Given the description of an element on the screen output the (x, y) to click on. 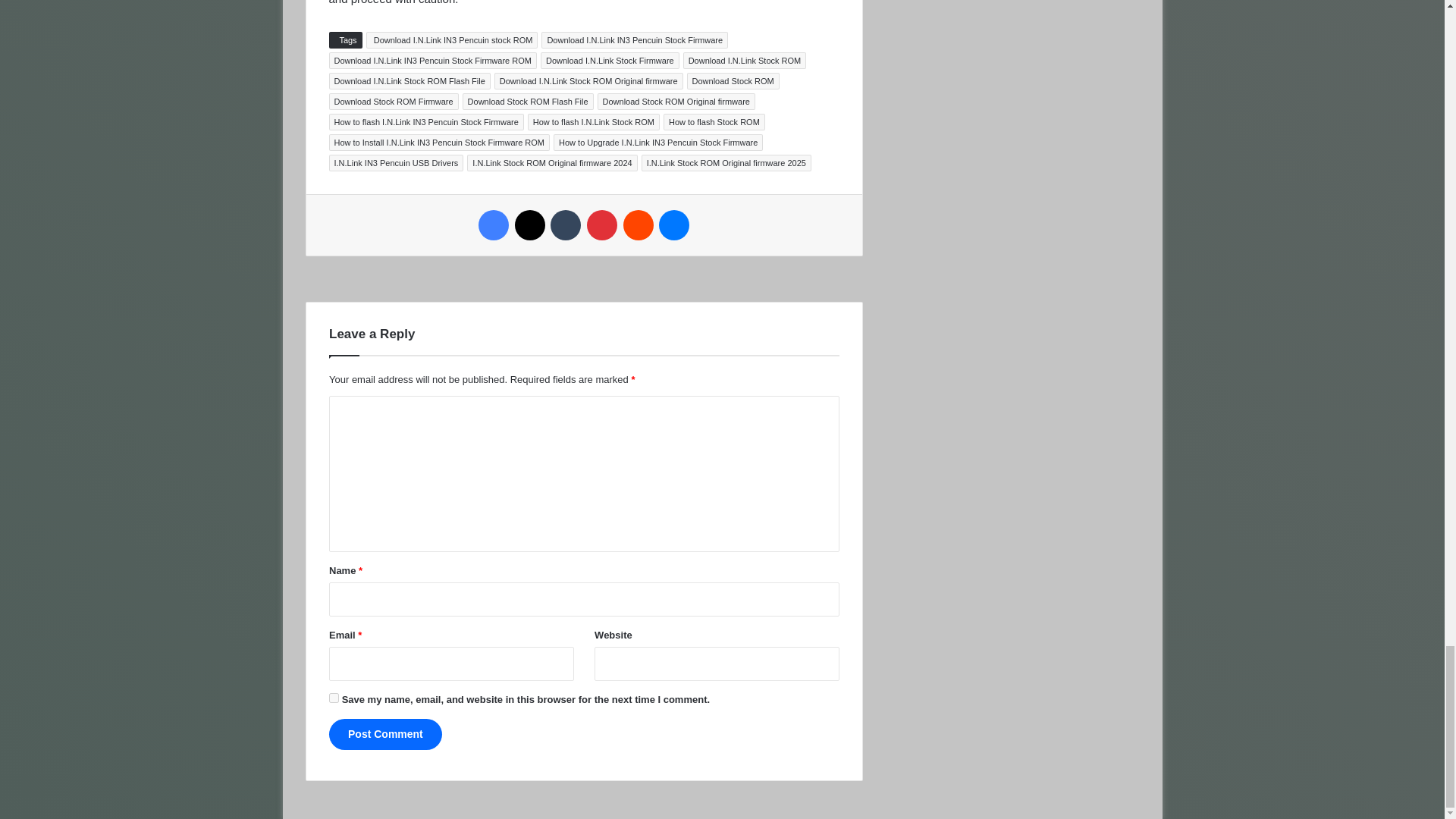
Tumblr (565, 224)
Post Comment (385, 734)
Facebook (493, 224)
Reddit (638, 224)
X (529, 224)
Messenger (673, 224)
yes (334, 697)
Pinterest (601, 224)
Download I.N.Link IN3 Pencuin Stock Firmware (634, 39)
 Download I.N.Link IN3 Pencuin stock ROM (452, 39)
